Given the description of an element on the screen output the (x, y) to click on. 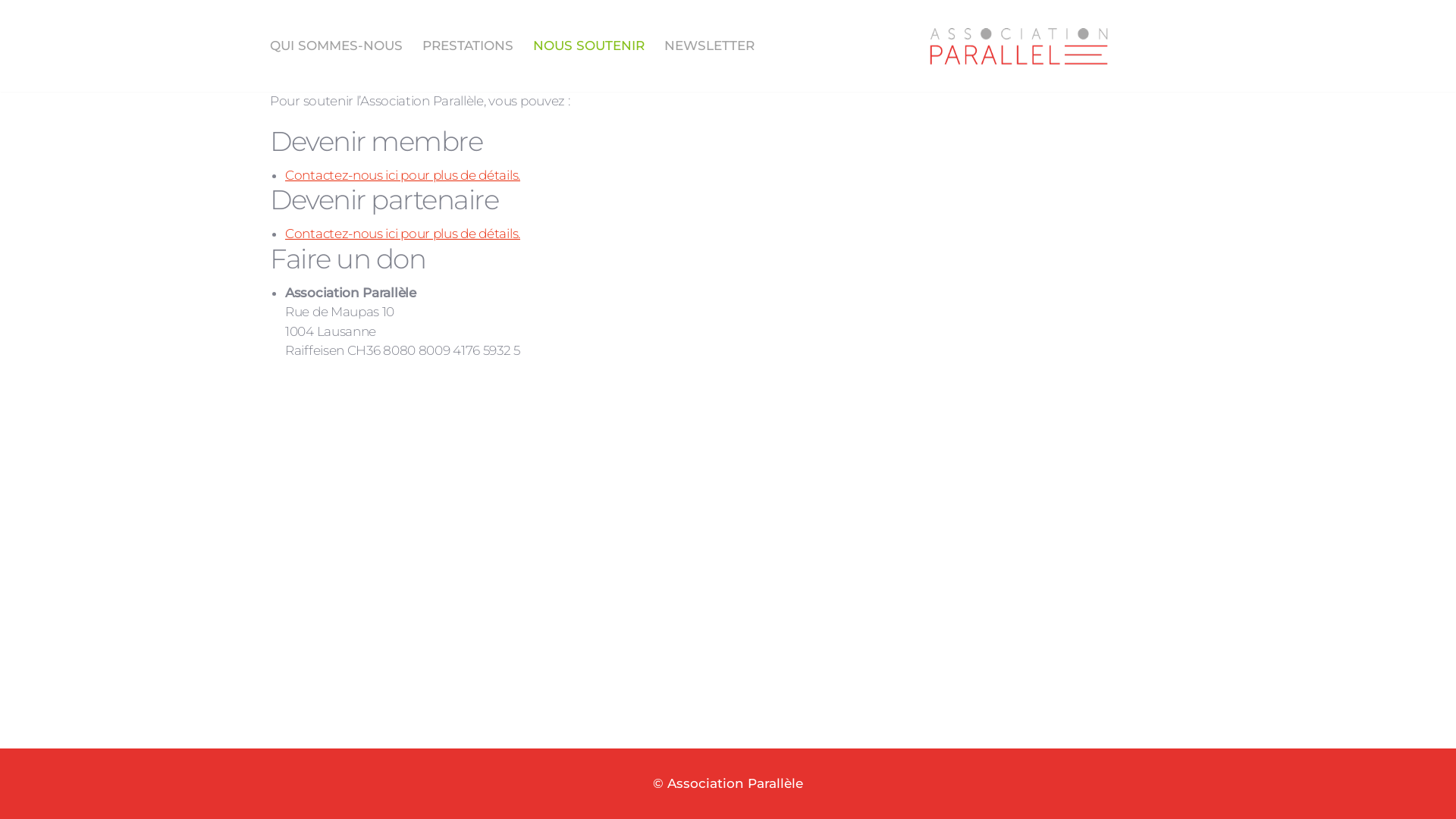
NEWSLETTER Element type: text (709, 45)
QUI SOMMES-NOUS Element type: text (335, 45)
NOUS SOUTENIR Element type: text (588, 45)
PRESTATIONS Element type: text (467, 45)
Aller au contenu Element type: text (15, 31)
